Given the description of an element on the screen output the (x, y) to click on. 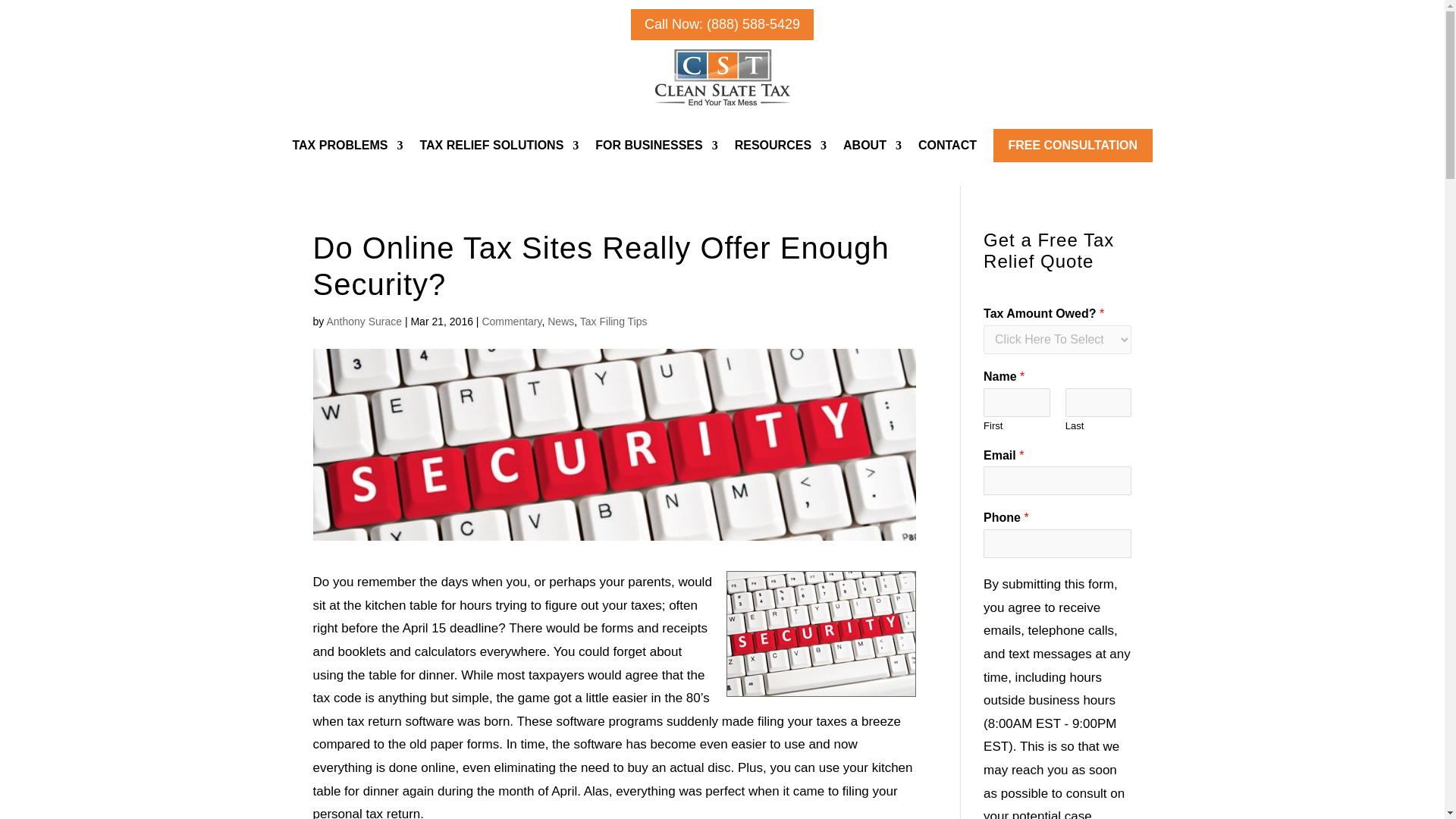
FOR BUSINESSES (656, 145)
Tax Services (498, 145)
TAX RELIEF SOLUTIONS (498, 145)
TAX PROBLEMS (347, 145)
Tax Problems (347, 145)
Posts by Anthony Surace (363, 321)
